Given the description of an element on the screen output the (x, y) to click on. 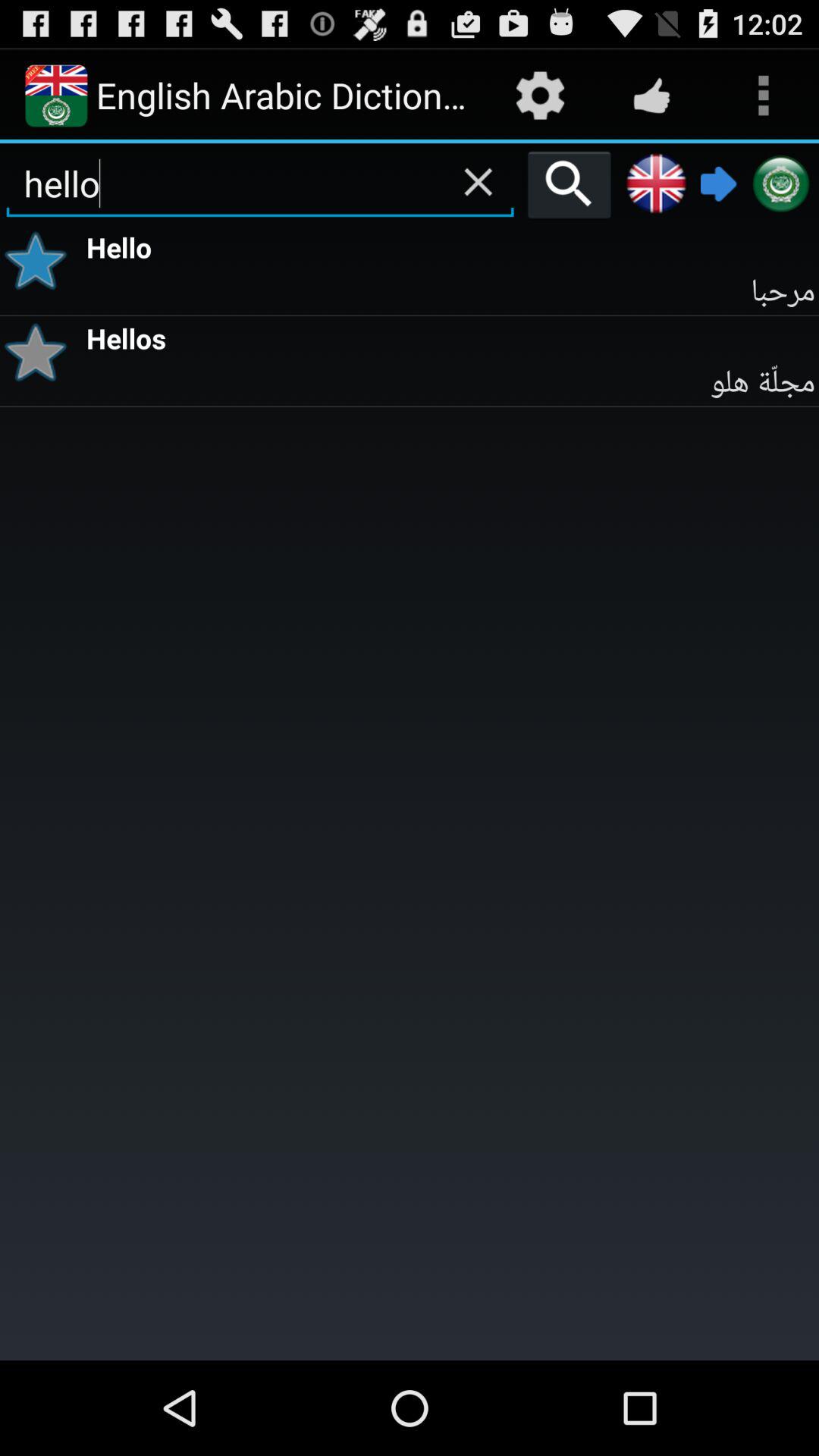
clear field (478, 181)
